Given the description of an element on the screen output the (x, y) to click on. 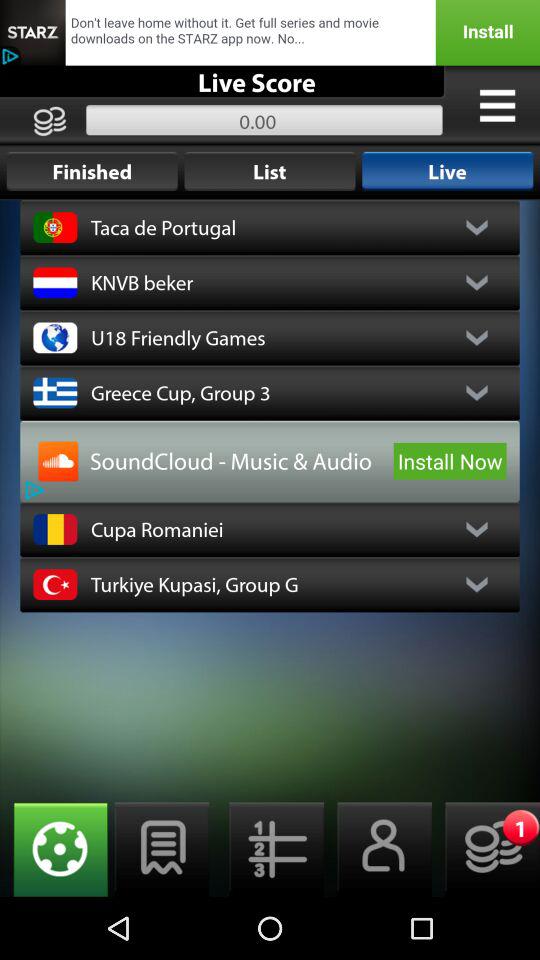
settings icon (497, 105)
